Given the description of an element on the screen output the (x, y) to click on. 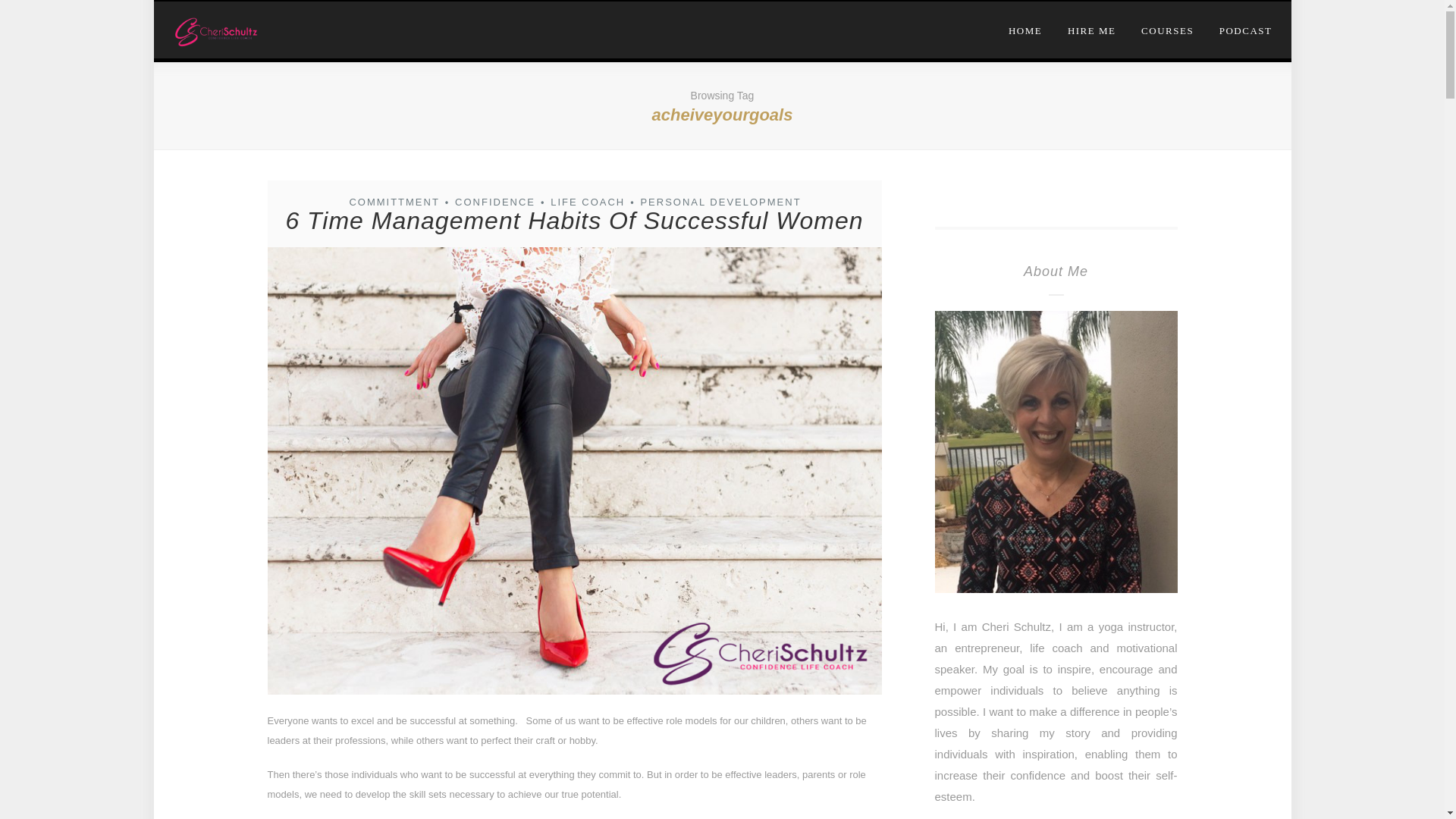
HOME (1030, 26)
COMMITTMENT (393, 201)
PERSONAL DEVELOPMENT (719, 201)
6 Time Management Habits Of Successful Women (574, 220)
HIRE ME (1091, 26)
CONFIDENCE (494, 201)
LIFE COACH (586, 201)
